Given the description of an element on the screen output the (x, y) to click on. 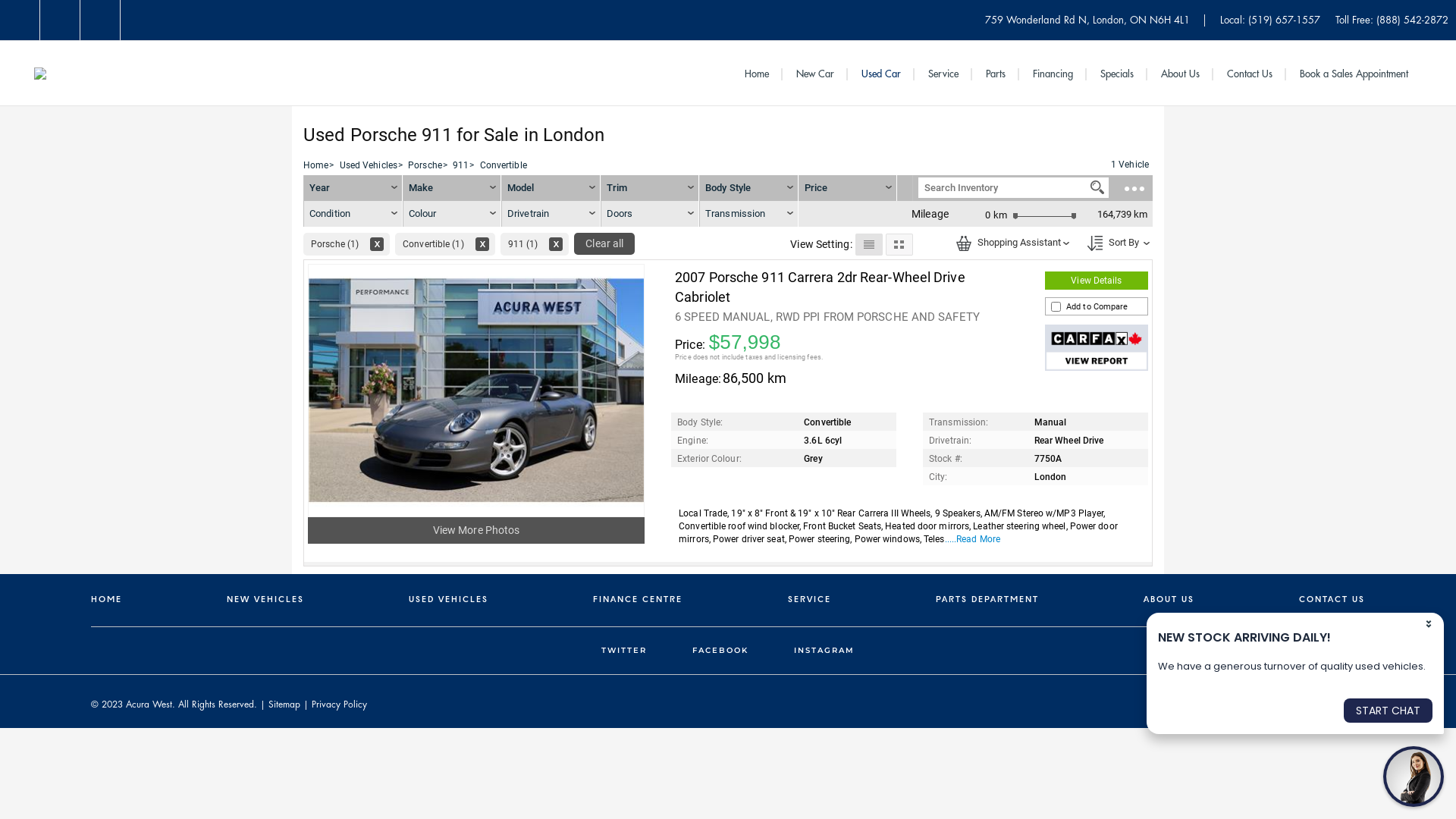
View Details Element type: text (1096, 280)
911 Element type: text (460, 165)
USED VEHICLES Element type: text (448, 600)
Condition Element type: text (352, 213)
Doors Element type: text (649, 213)
Shopping Assistant Element type: hover (963, 243)
FACEBOOK Element type: text (720, 645)
NEW VEHICLES Element type: text (265, 600)
Listing View Element type: hover (868, 243)
Trim Element type: text (649, 187)
INSTAGRAM Element type: text (823, 645)
Service Element type: text (943, 73)
.....Read More Element type: text (972, 538)
Transmission Element type: text (748, 213)
Sitemap Element type: text (284, 704)
HOME Element type: text (106, 600)
Colour Element type: text (452, 213)
View More Photos Element type: text (476, 530)
Toll Free: (888) 542-2872 Element type: text (1391, 20)
Contact Us Element type: text (1249, 73)
Year Element type: text (352, 187)
759 Wonderland Rd N,
London, ON N6H 4L1 Element type: text (1087, 20)
Convertible Element type: text (503, 165)
Book a Sales Appointment Element type: text (1353, 73)
Grid View Element type: hover (898, 243)
New Car Element type: text (814, 73)
SERVICE Element type: text (809, 600)
Privacy Policy Element type: text (339, 704)
Shopping Assistant Element type: text (1009, 241)
About Us Element type: text (1180, 73)
Make Element type: text (452, 187)
Financing Element type: text (1052, 73)
Price Element type: text (815, 187)
Home Element type: text (315, 165)
Clear all Element type: text (604, 243)
PARTS DEPARTMENT Element type: text (986, 600)
Home Element type: text (763, 73)
Body Style Element type: text (748, 187)
TWITTER Element type: text (623, 645)
Parts Element type: text (995, 73)
FINANCE CENTRE Element type: text (637, 600)
2007 Porsche 911 Carrera 2dr Rear-Wheel Drive Cabriolet Element type: text (819, 286)
Sort By Element type: text (1114, 241)
Drivetrain Element type: text (550, 213)
ABOUT US Element type: text (1168, 600)
Search Element type: hover (1096, 186)
Used Car Element type: text (880, 73)
Used Vehicles Element type: text (368, 165)
unchecked Element type: text (1055, 306)
2007 Porsche 911 Carrera WP0CA29927S765443 7750A in London Element type: hover (1096, 347)
Porsche Element type: text (424, 165)
CONTACT US Element type: text (1332, 600)
 Acura West Element type: hover (40, 72)
Model Element type: text (550, 187)
Sort By Element type: hover (1094, 243)
Local: (519) 657-1557 Element type: text (1270, 20)
Specials Element type: text (1116, 73)
